Given the description of an element on the screen output the (x, y) to click on. 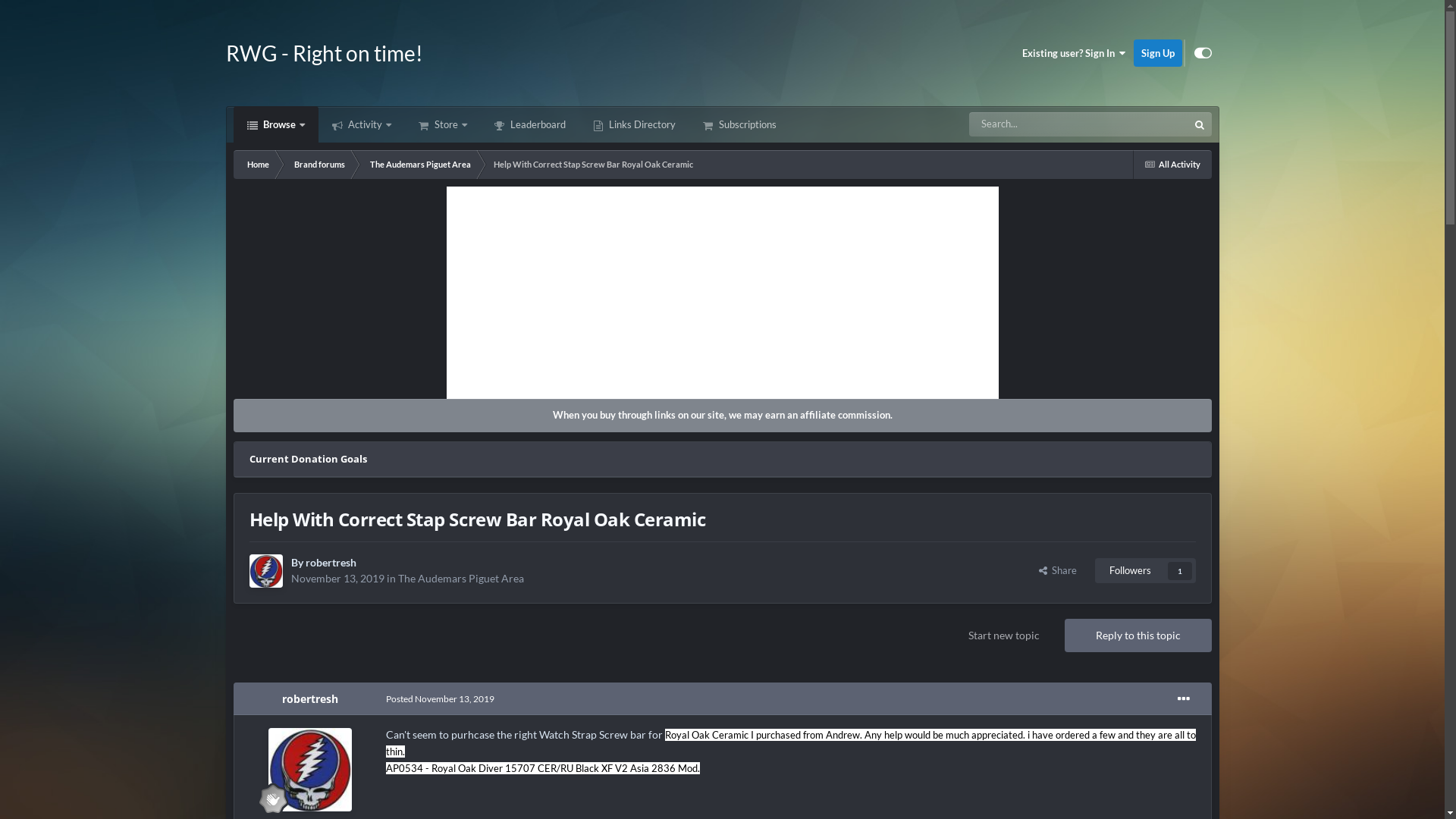
Rank: Newbie (1/15) Element type: hover (272, 798)
All Activity Element type: text (1171, 164)
Customizer Element type: hover (1202, 52)
The Audemars Piguet Area Element type: text (460, 577)
Store Element type: text (442, 124)
Go to robertresh's profile Element type: hover (265, 570)
Browse Element type: text (275, 124)
Links Directory Element type: text (634, 124)
RWG - Right on time! Element type: text (324, 53)
Home Element type: text (256, 164)
Go to robertresh's profile Element type: hover (309, 769)
More options... Element type: hover (1182, 699)
Followers
1 Element type: text (1145, 570)
Sign Up Element type: text (1156, 52)
robertresh Element type: text (310, 698)
Existing user? Sign In   Element type: text (1073, 52)
Reply to this topic Element type: text (1137, 635)
Start new topic Element type: text (1003, 635)
The Audemars Piguet Area Element type: text (419, 164)
Brand forums Element type: text (318, 164)
Activity Element type: text (361, 124)
robertresh Element type: text (329, 561)
Subscriptions Element type: text (738, 124)
Leaderboard Element type: text (529, 124)
 Share Element type: text (1057, 570)
Posted November 13, 2019 Element type: text (439, 698)
Advertisement Element type: hover (721, 292)
